Given the description of an element on the screen output the (x, y) to click on. 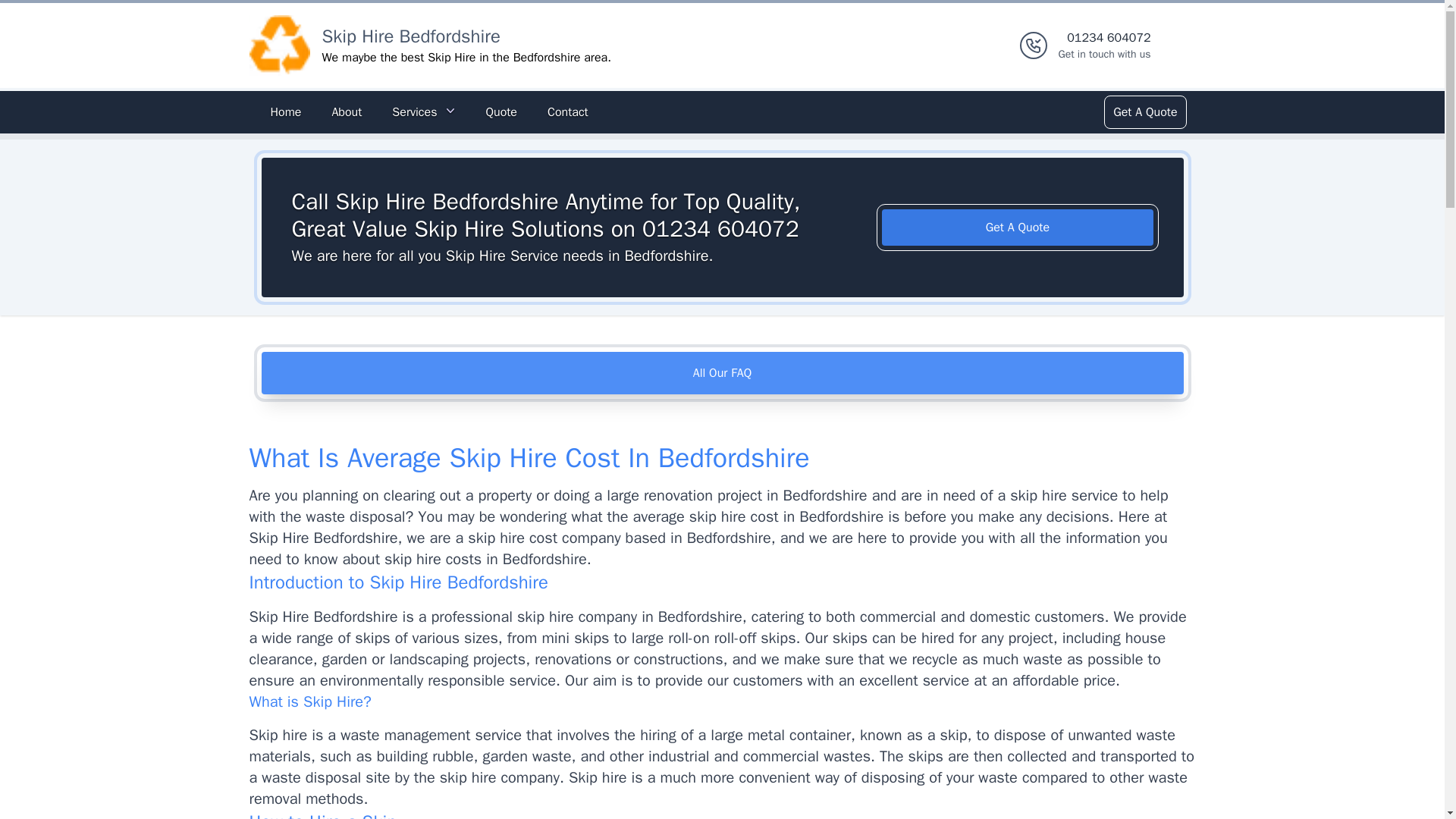
About (346, 112)
Logo (278, 45)
Get A Quote (1104, 45)
Get A Quote (1017, 227)
Home (1144, 112)
All Our FAQ (285, 112)
Contact (721, 372)
Skip Hire Bedfordshire (567, 112)
Services (410, 36)
Quote (423, 112)
